Given the description of an element on the screen output the (x, y) to click on. 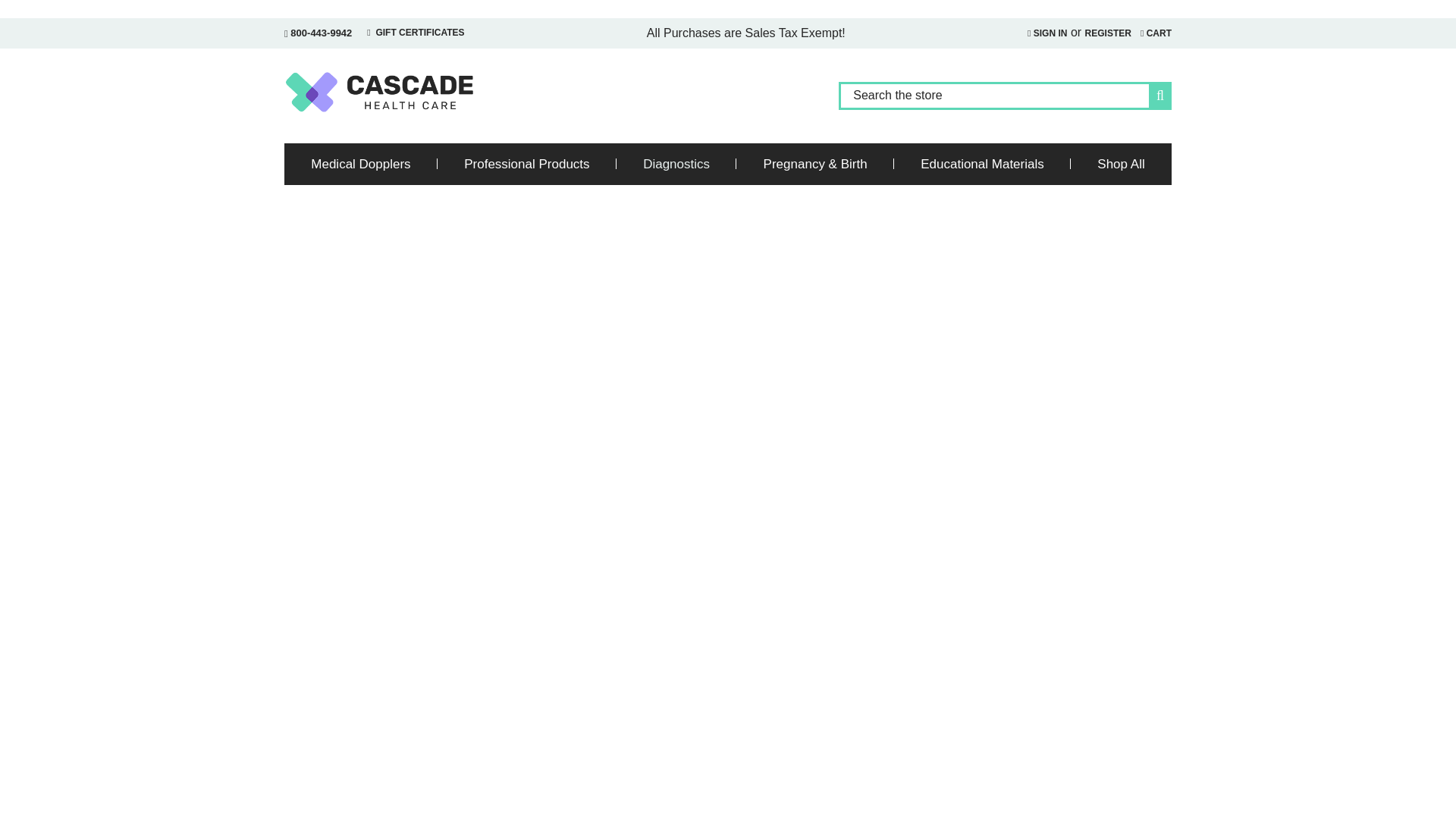
Cascade Health Care Inc. (378, 90)
CART (1155, 32)
 800-443-9942 (317, 33)
SIGN IN (1047, 32)
  GIFT CERTIFICATES (415, 32)
REGISTER (1107, 32)
